Given the description of an element on the screen output the (x, y) to click on. 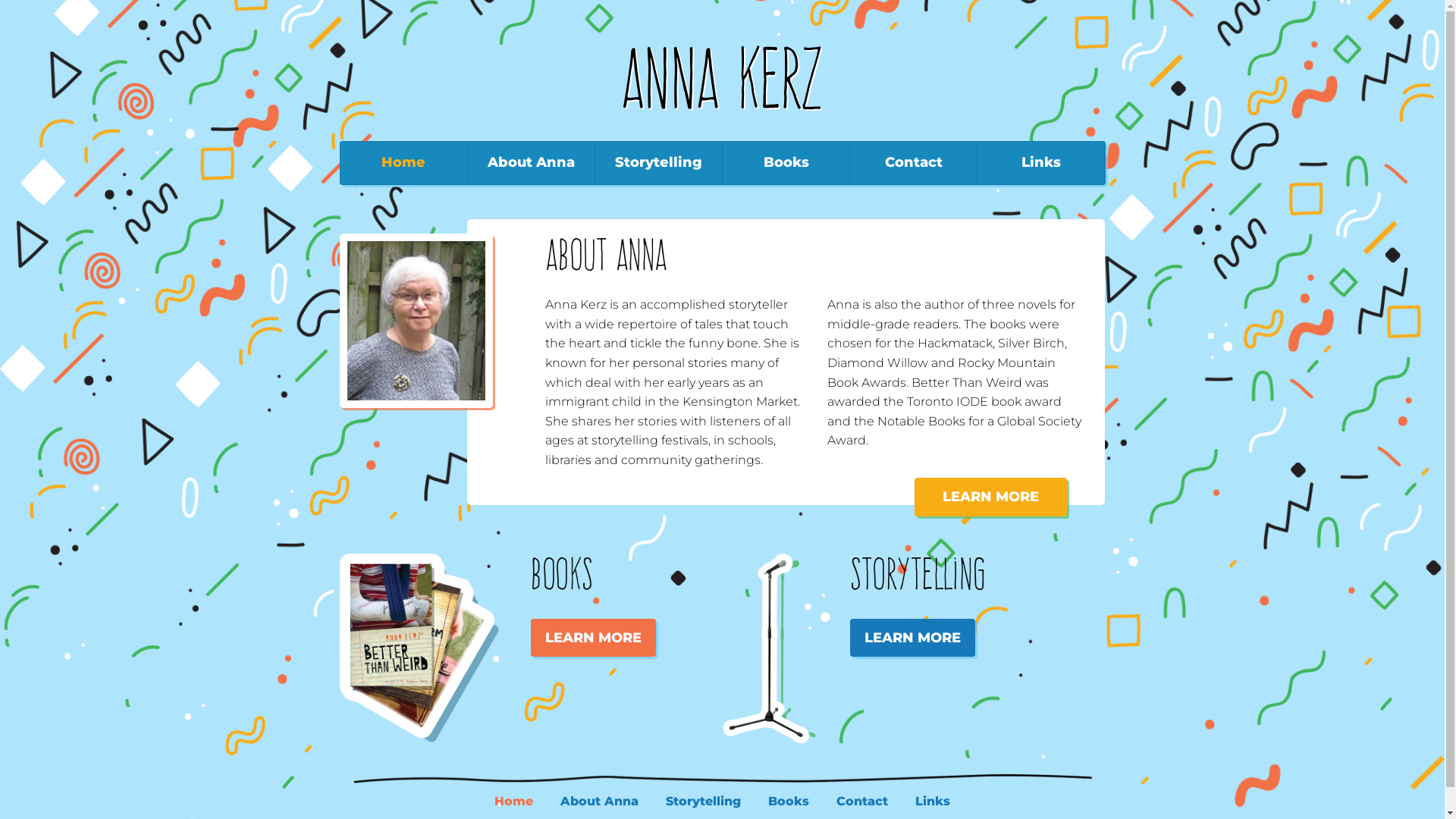
LEARN MORE Element type: text (912, 637)
Links Element type: text (932, 801)
Storytelling Element type: text (703, 801)
LEARN MORE Element type: text (592, 637)
Home Element type: text (513, 801)
Books Element type: text (785, 162)
Storytelling Element type: text (658, 162)
LEARN MORE Element type: text (990, 496)
Links Element type: text (1040, 162)
About Anna Element type: text (599, 801)
Home Element type: text (402, 162)
Books Element type: text (788, 801)
About Anna Element type: text (530, 162)
Contact Element type: text (862, 801)
Contact Element type: text (913, 162)
